Given the description of an element on the screen output the (x, y) to click on. 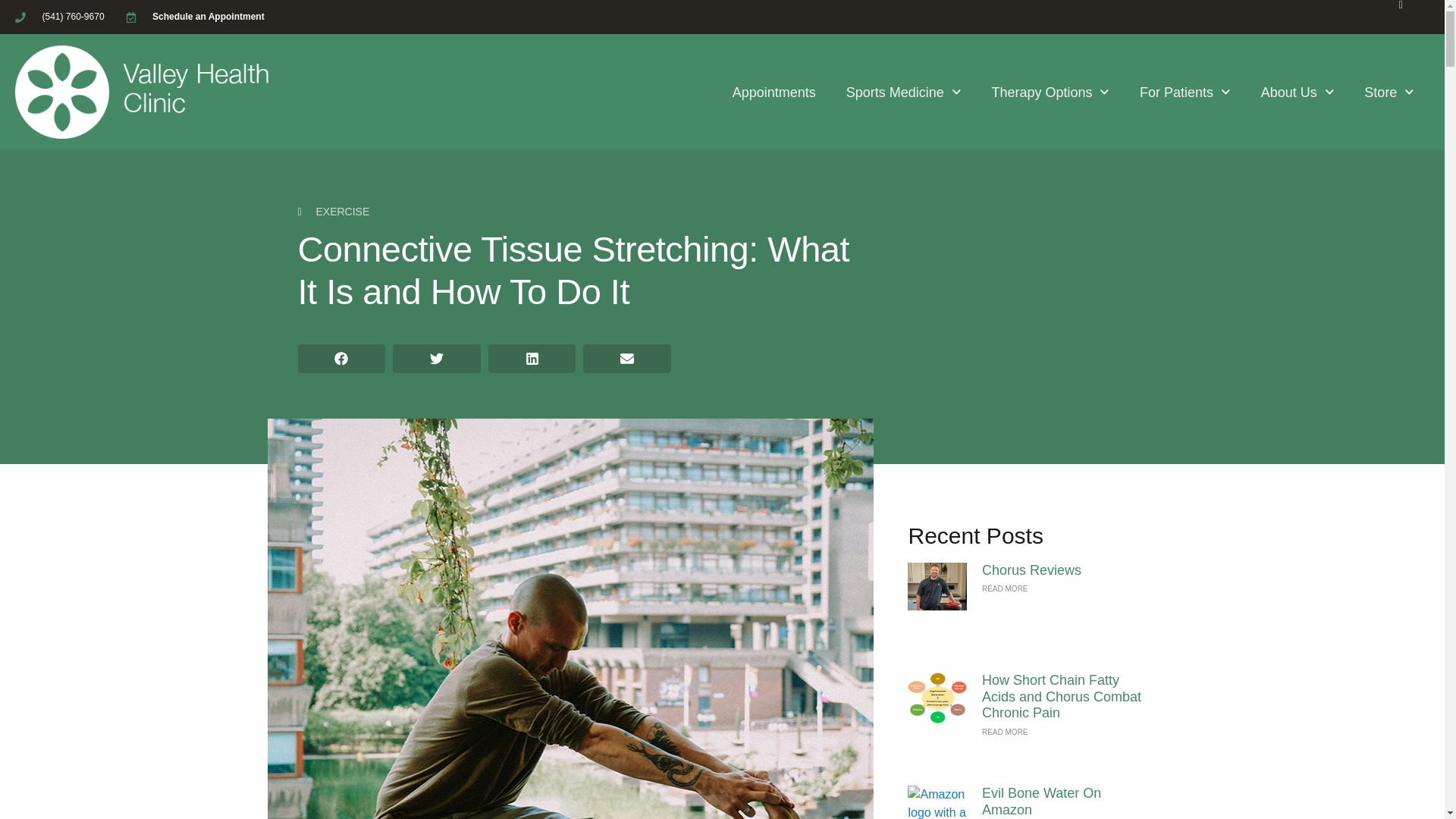
Therapy Options (1049, 92)
For Patients (1185, 92)
Sports Medicine (903, 92)
Appointments (774, 92)
Schedule an Appointment (194, 16)
About Us (1297, 92)
